Given the description of an element on the screen output the (x, y) to click on. 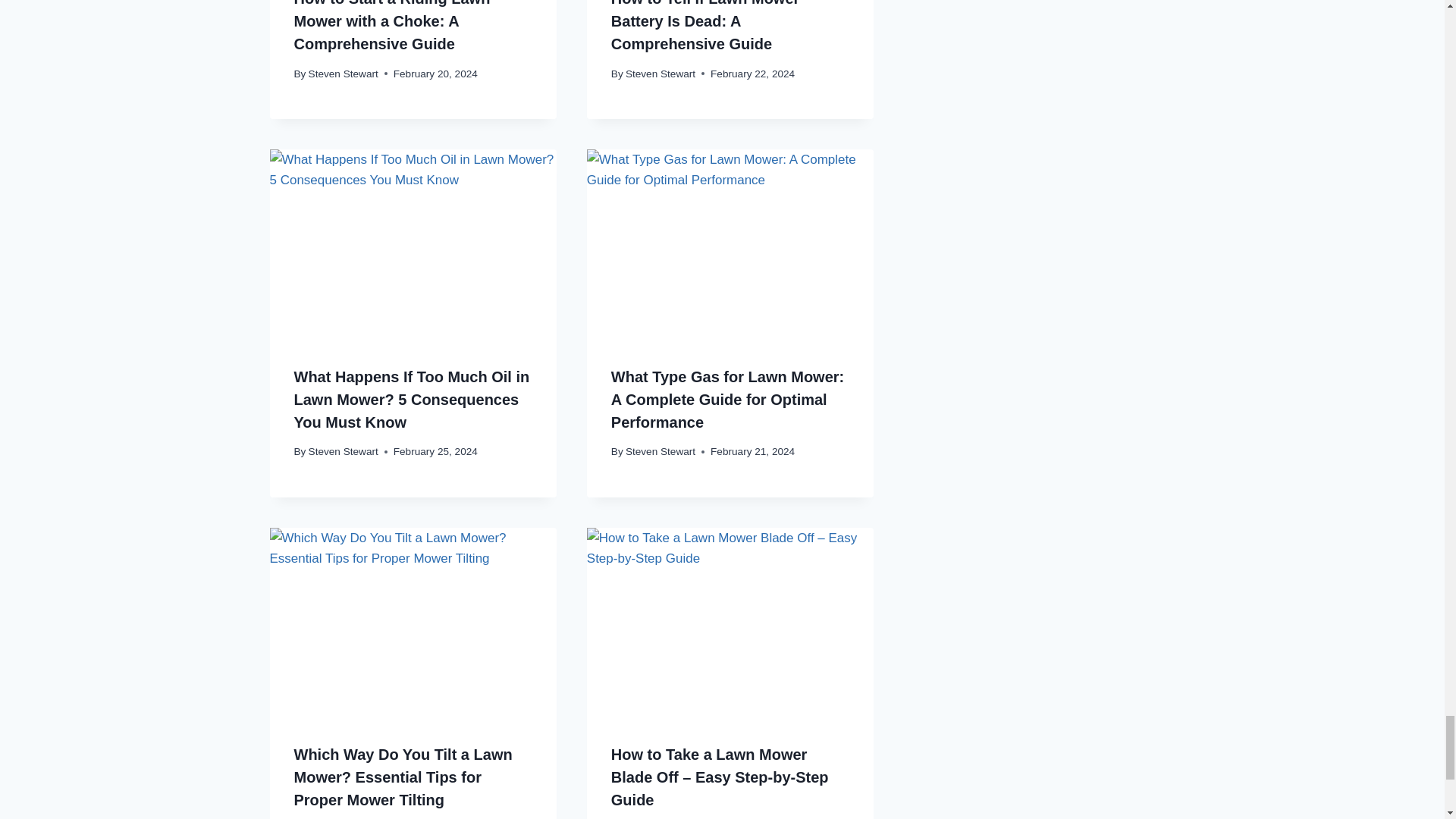
How to Take a Lawn Mower Blade Off - Easy Step-by-Step Guide (729, 623)
